Given the description of an element on the screen output the (x, y) to click on. 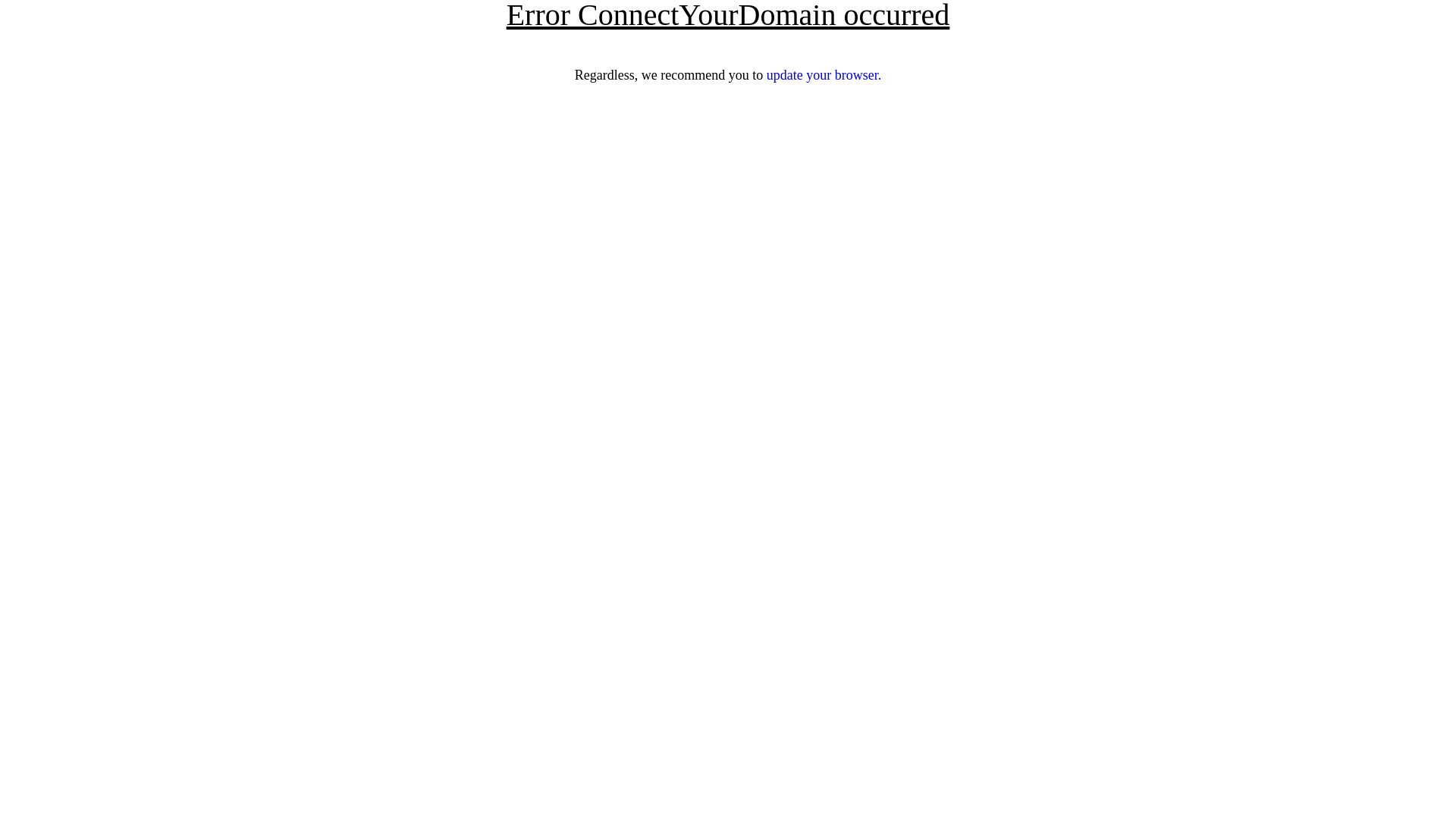
update your browser. Element type: text (823, 74)
